Given the description of an element on the screen output the (x, y) to click on. 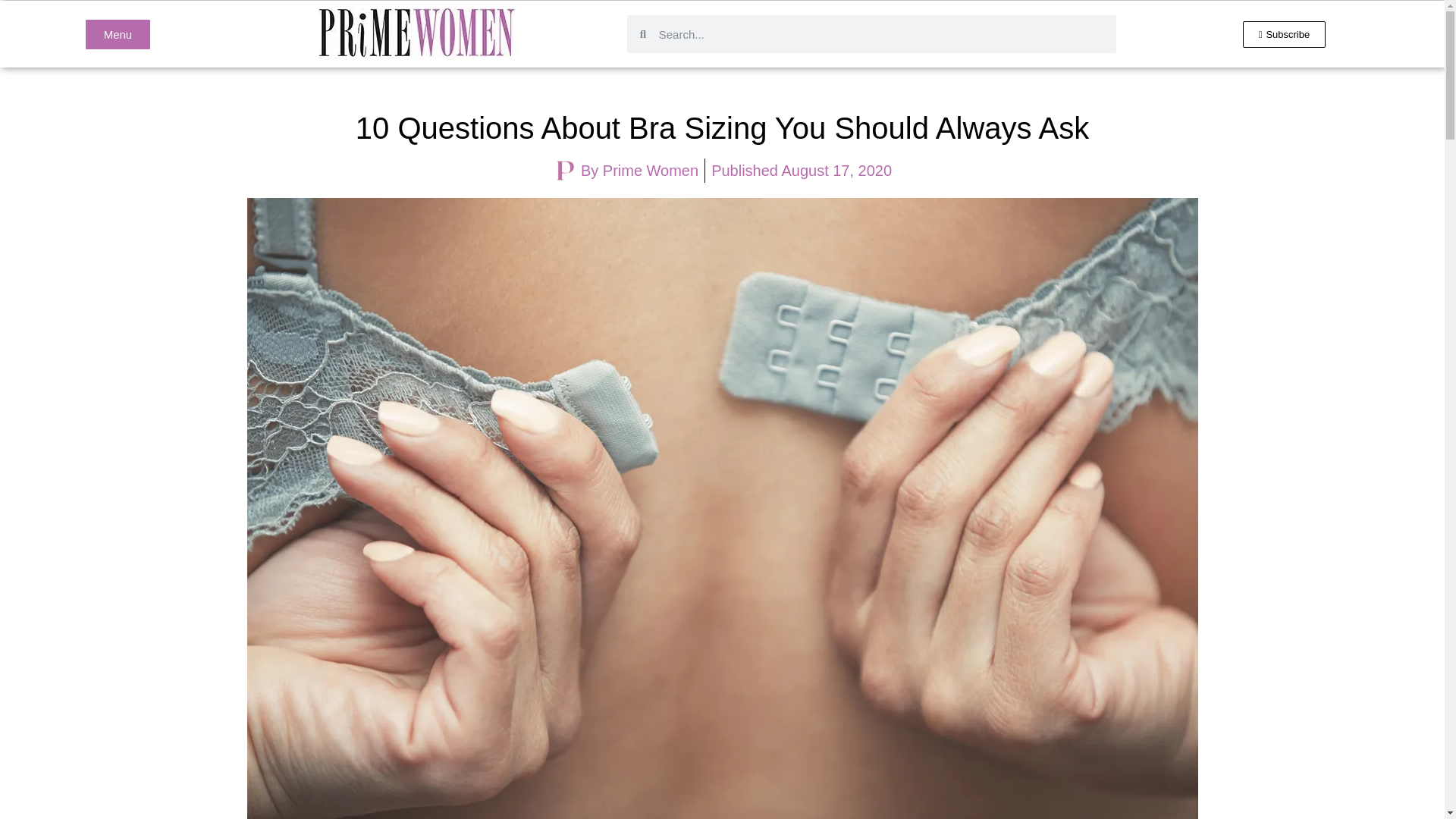
By Prime Women (625, 170)
Published August 17, 2020 (801, 169)
Subscribe (1284, 34)
Menu (118, 34)
